Given the description of an element on the screen output the (x, y) to click on. 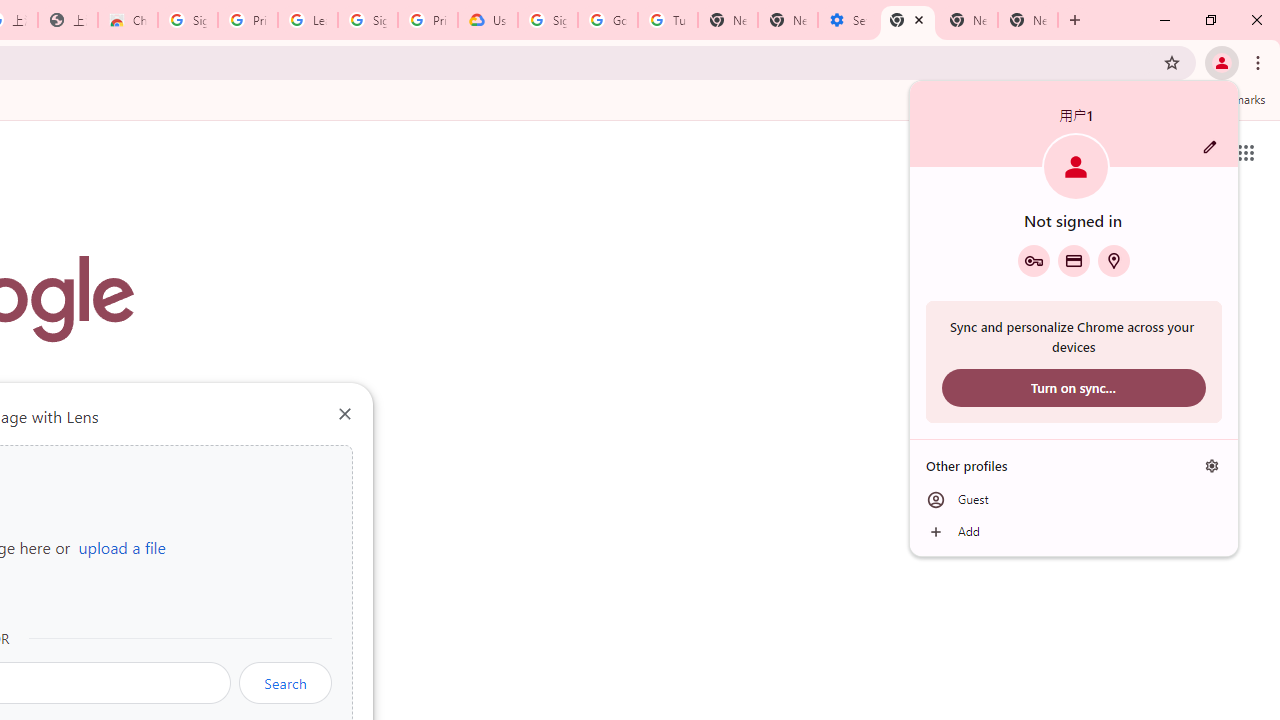
Turn cookies on or off - Computer - Google Account Help (667, 20)
New Tab (908, 20)
Addresses and more (1114, 260)
Chrome Web Store - Color themes by Chrome (127, 20)
Sign in - Google Accounts (367, 20)
Settings - System (847, 20)
upload a file (122, 547)
Google Password Manager (1033, 260)
Payment methods (1074, 260)
Guest (1073, 499)
